Given the description of an element on the screen output the (x, y) to click on. 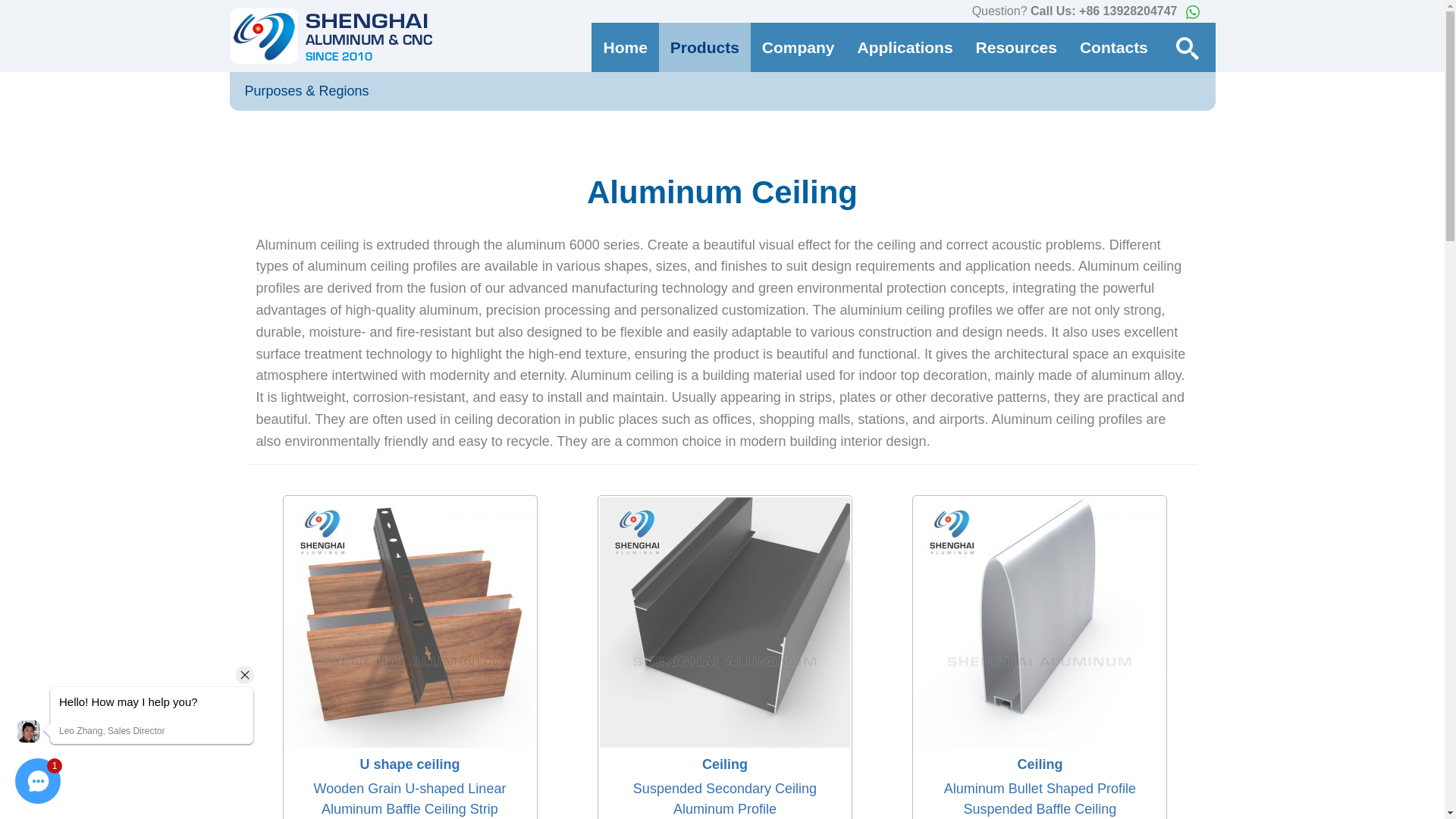
Contacts (1113, 47)
Products (705, 47)
Resources (1015, 47)
Applications (904, 47)
Company (798, 47)
Home (624, 47)
